Given the description of an element on the screen output the (x, y) to click on. 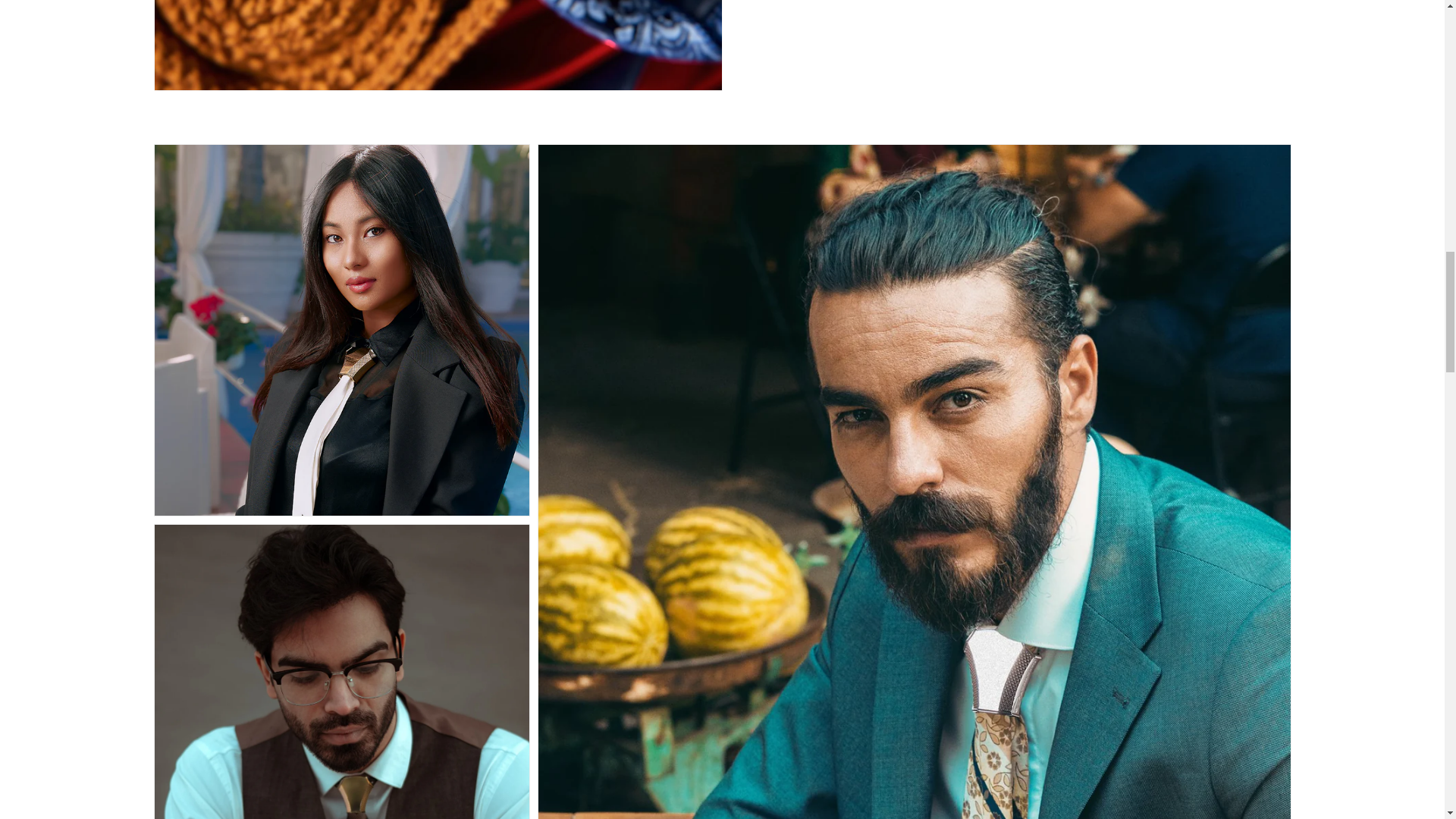
Open featured media in gallery view (438, 44)
